Given the description of an element on the screen output the (x, y) to click on. 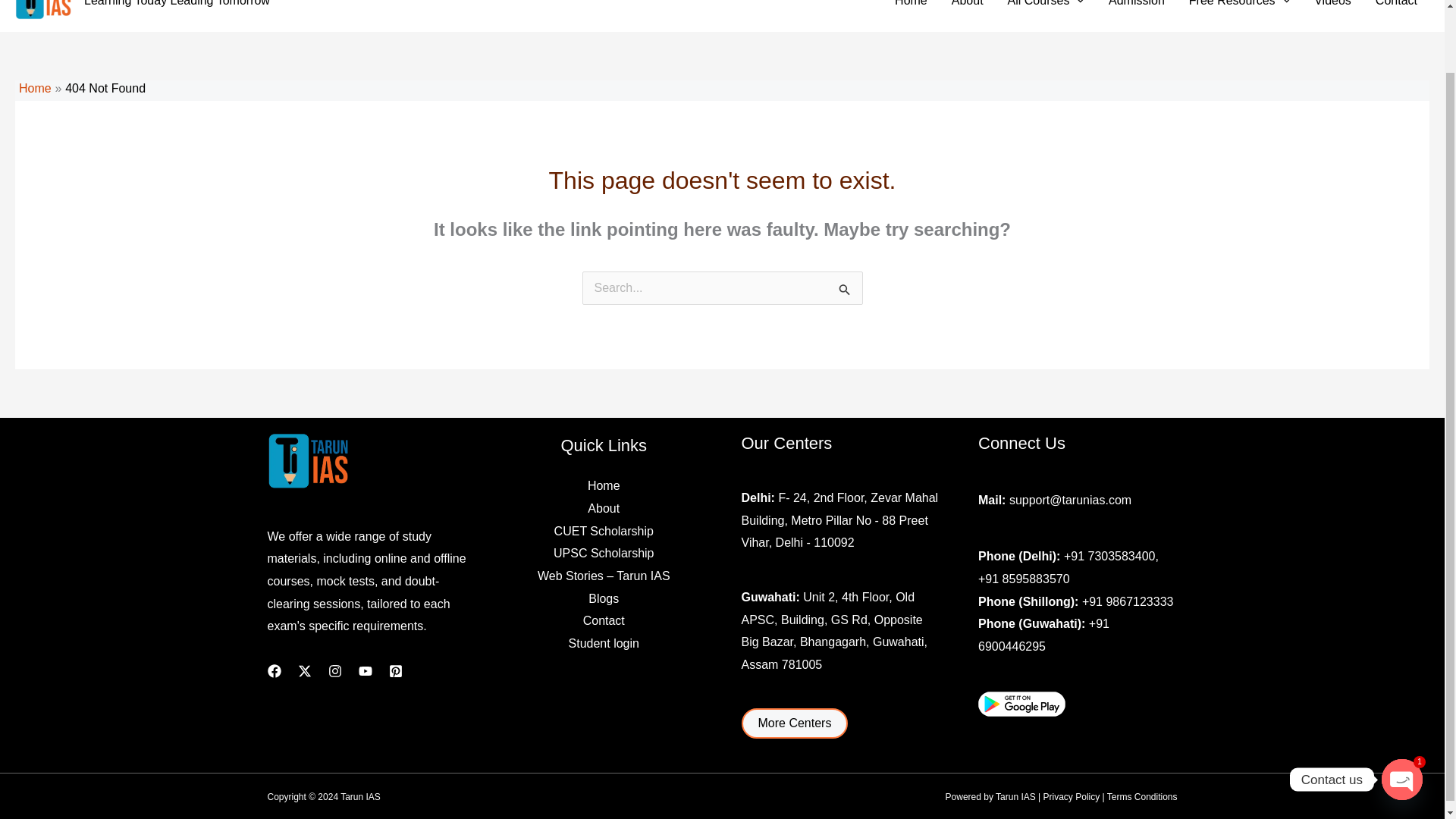
Home (910, 5)
All Courses (1045, 5)
About (967, 5)
Free Resources (1238, 5)
Videos (1331, 5)
Admission (1136, 5)
Home (34, 88)
Contact (1395, 5)
